Given the description of an element on the screen output the (x, y) to click on. 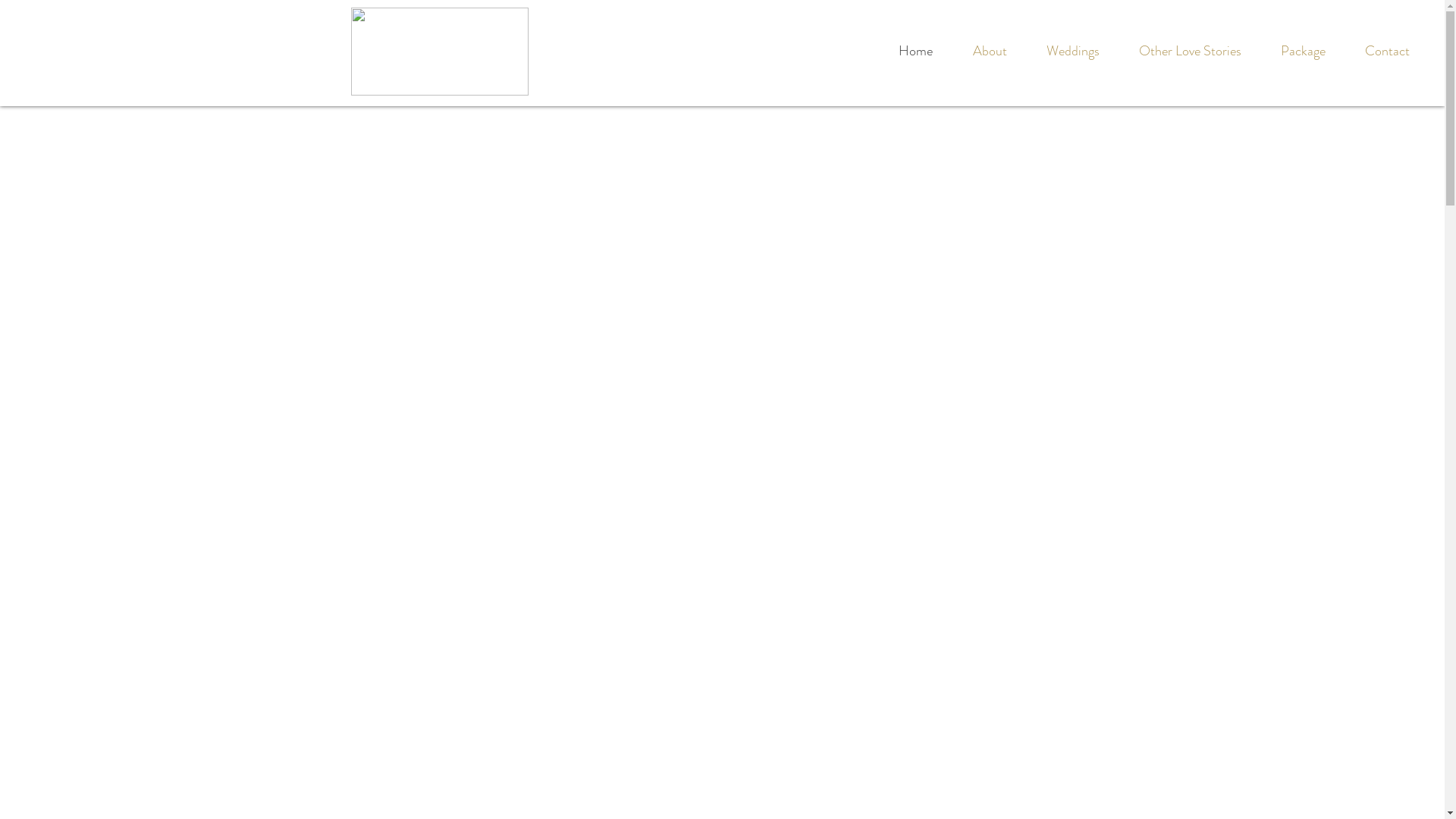
Package Element type: text (1303, 50)
Home Element type: text (915, 50)
About Element type: text (989, 50)
Weddings Element type: text (1072, 50)
Contact Element type: text (1387, 50)
